Given the description of an element on the screen output the (x, y) to click on. 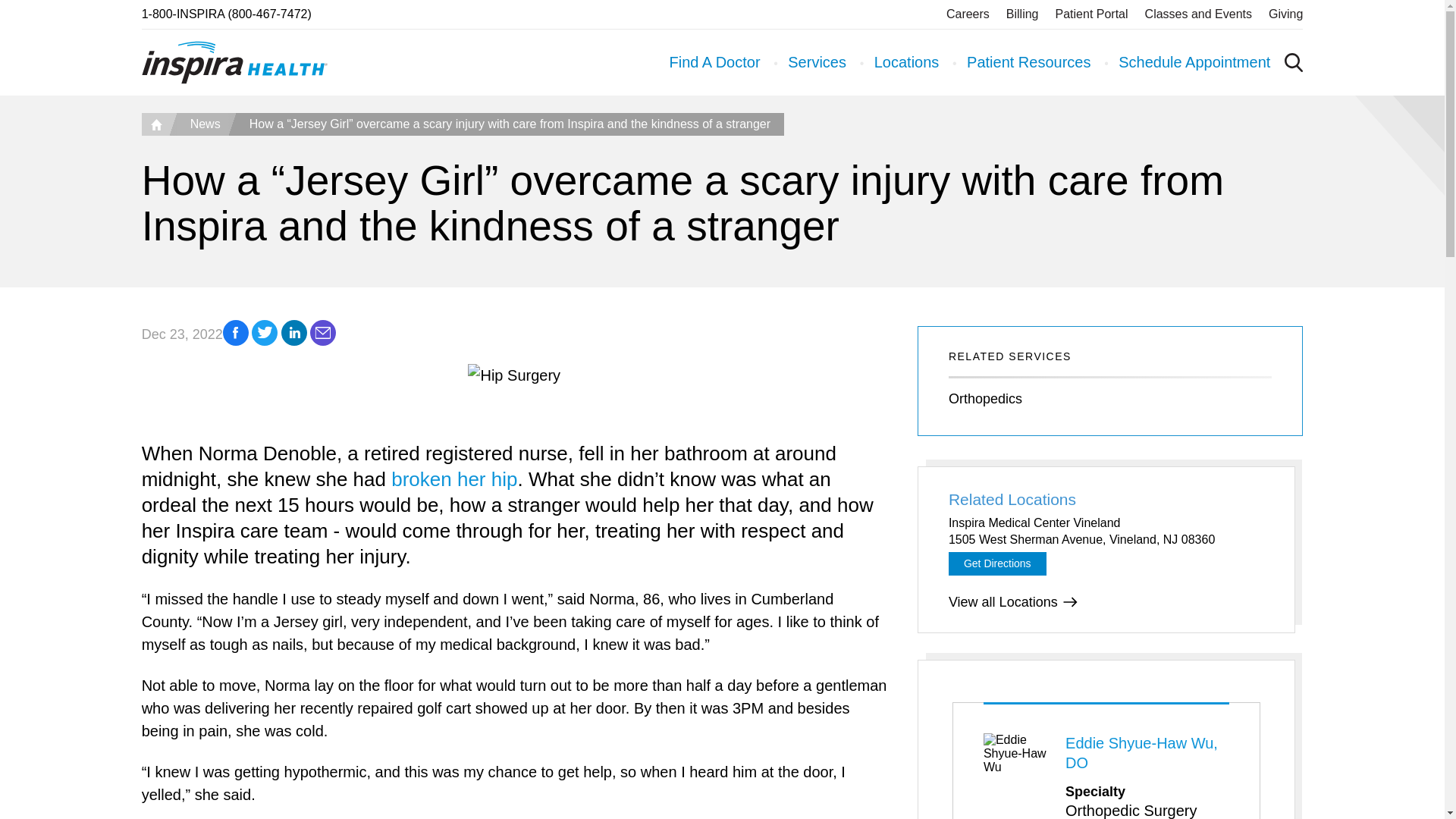
Schedule Appointment (1193, 62)
Find A Doctor (714, 62)
Go to Home page (154, 124)
News (202, 124)
Call Inspira (226, 14)
Home (154, 124)
Search (1214, 180)
Billing (1022, 13)
Locations (907, 62)
Patient Resources (1028, 62)
Return to Homepage (234, 62)
Go to News page (202, 124)
Use the Global Search (1293, 62)
Classes and Events (1198, 13)
Careers (968, 13)
